Given the description of an element on the screen output the (x, y) to click on. 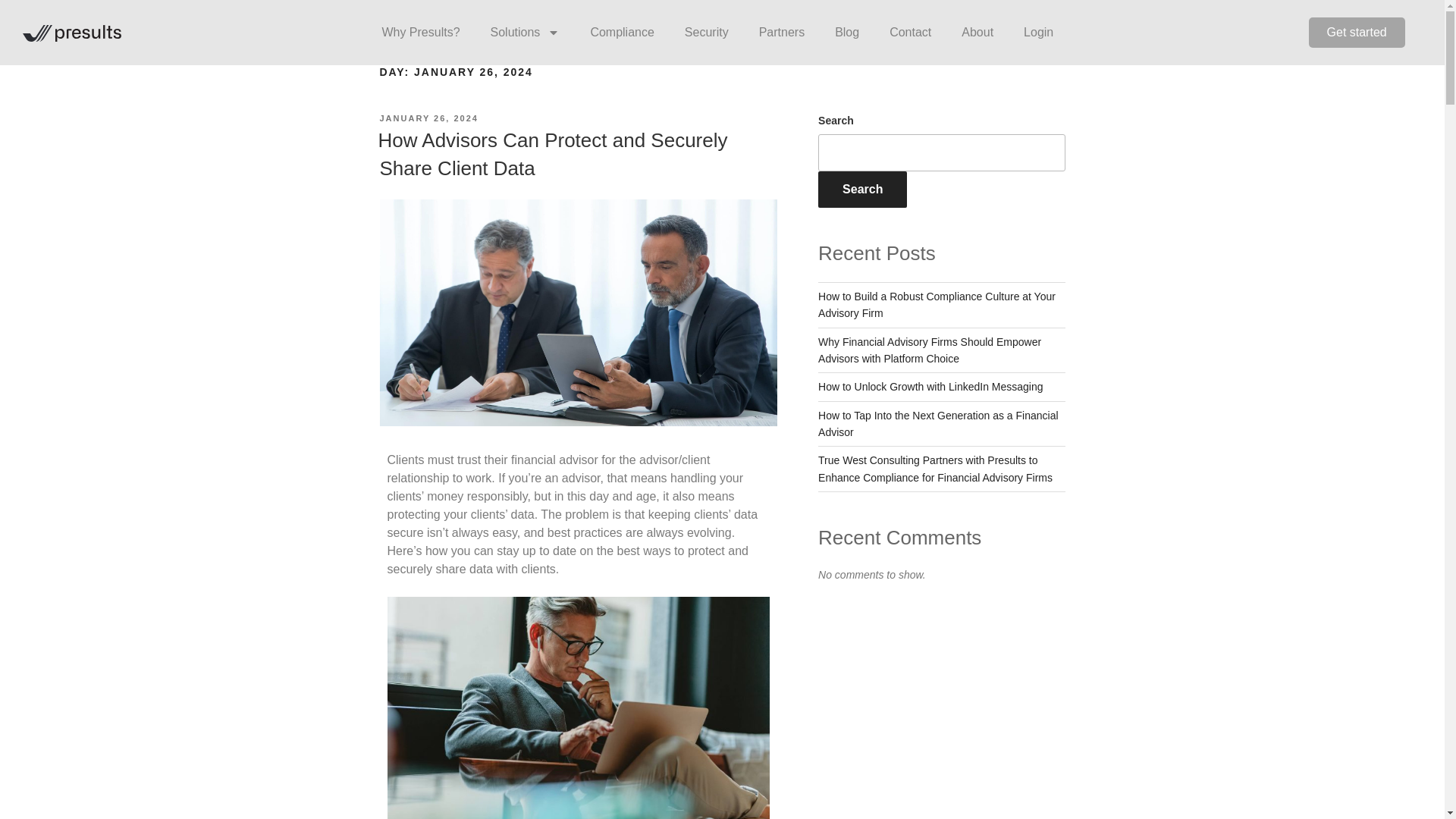
How Advisors Can Protect and Securely Share Client Data (551, 153)
Solutions (525, 32)
JANUARY 26, 2024 (427, 117)
Blog (847, 32)
Security (706, 32)
About (977, 32)
Compliance (621, 32)
Contact (910, 32)
Why Presults? (420, 32)
Get started (1356, 32)
Login (1038, 32)
Partners (781, 32)
